Given the description of an element on the screen output the (x, y) to click on. 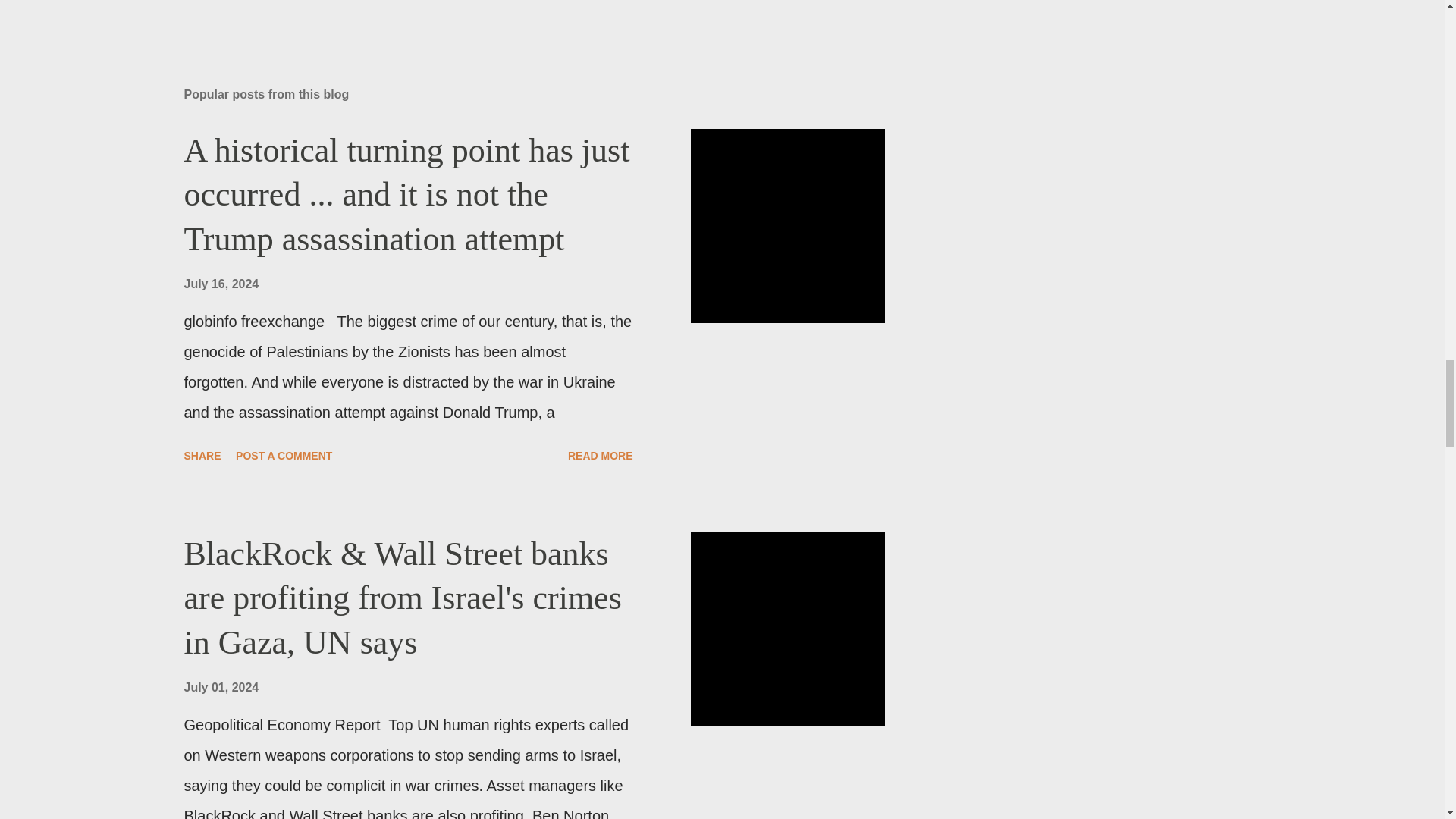
POST A COMMENT (283, 455)
permanent link (221, 283)
July 01, 2024 (221, 686)
July 16, 2024 (221, 283)
SHARE (202, 455)
READ MORE (600, 455)
